Given the description of an element on the screen output the (x, y) to click on. 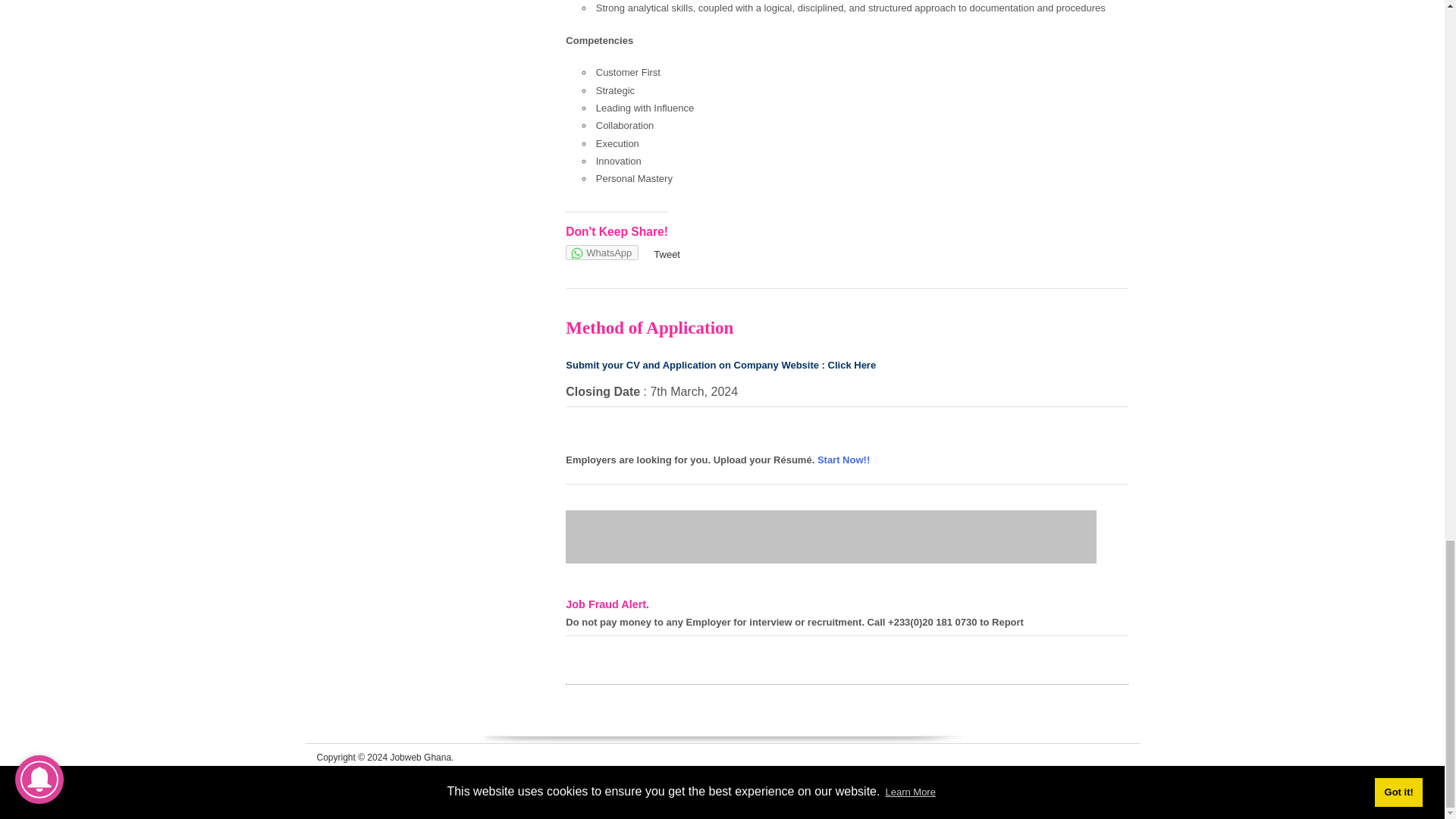
Tweet (666, 254)
Start Now!! (842, 460)
Click to share on WhatsApp (602, 252)
WhatsApp (602, 252)
